Given the description of an element on the screen output the (x, y) to click on. 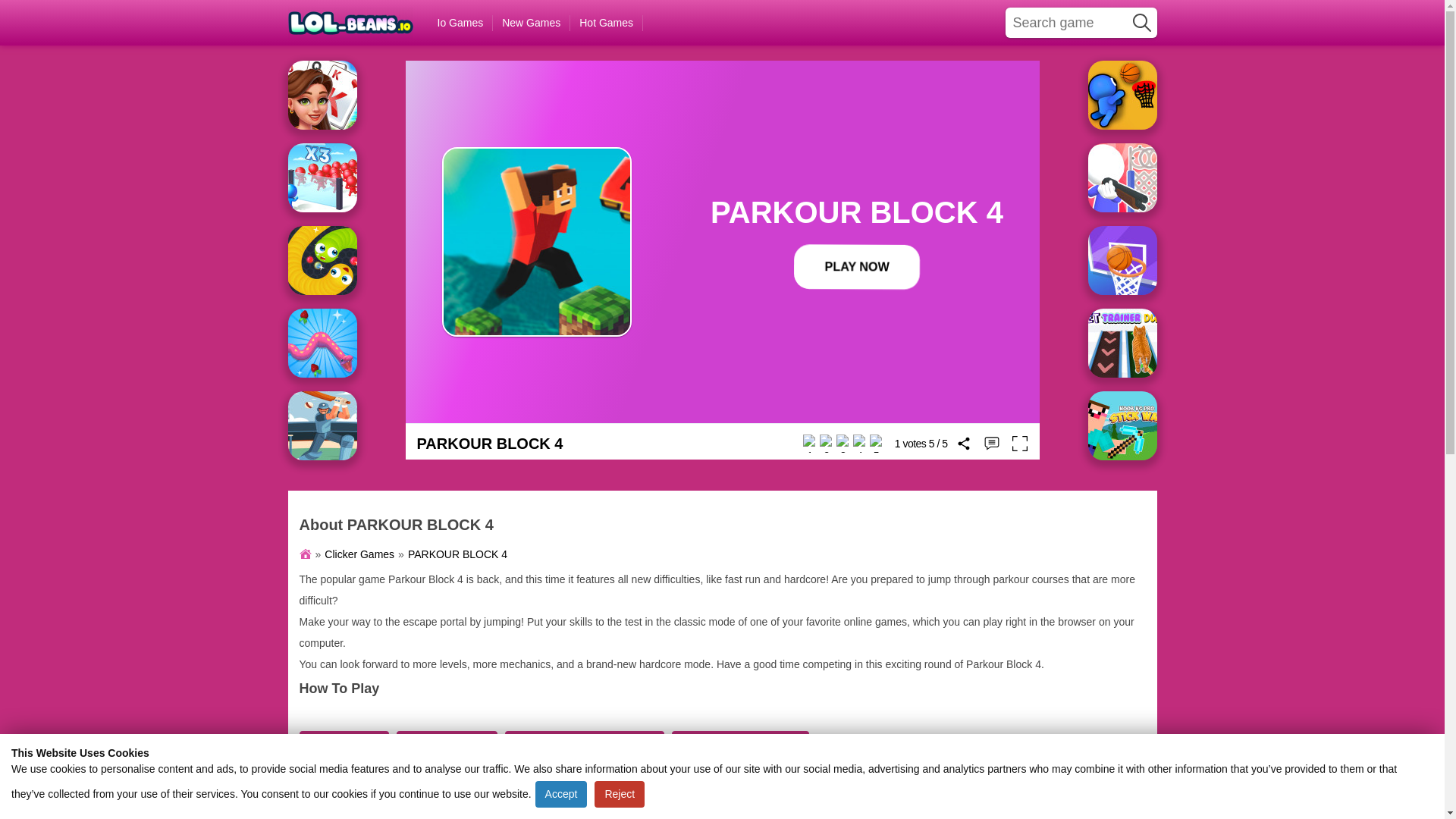
SAVE YOUR HOME (1121, 177)
BASKETBALL CHALLENGE (1121, 260)
PARKOUR BLOCK 4 ONLINE (740, 742)
KINGS AND QUEENS SOLITAIRE TRIPEAKS (322, 94)
New Games (531, 23)
PET TRAINER DUEL (1121, 342)
SNAKE ISLAND 3D (322, 342)
PARKOUR BLOCK 4 UNBLOCKED (585, 742)
NOOB VS PRO STICK WAR (1121, 425)
